Given the description of an element on the screen output the (x, y) to click on. 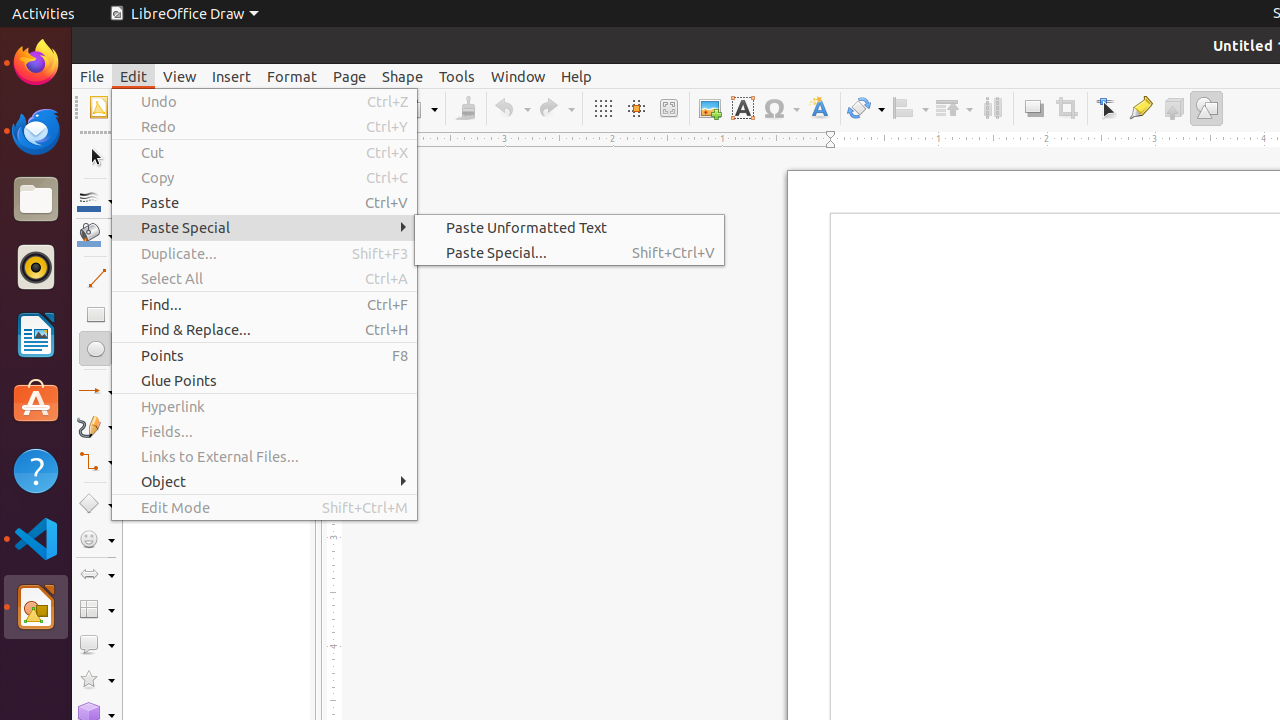
Hyperlink Element type: menu-item (264, 406)
Paste Unformatted Text Element type: menu-item (569, 227)
Shape Element type: menu (402, 76)
Paste Special... Element type: menu-item (569, 252)
Zoom & Pan Element type: push-button (668, 108)
